Given the description of an element on the screen output the (x, y) to click on. 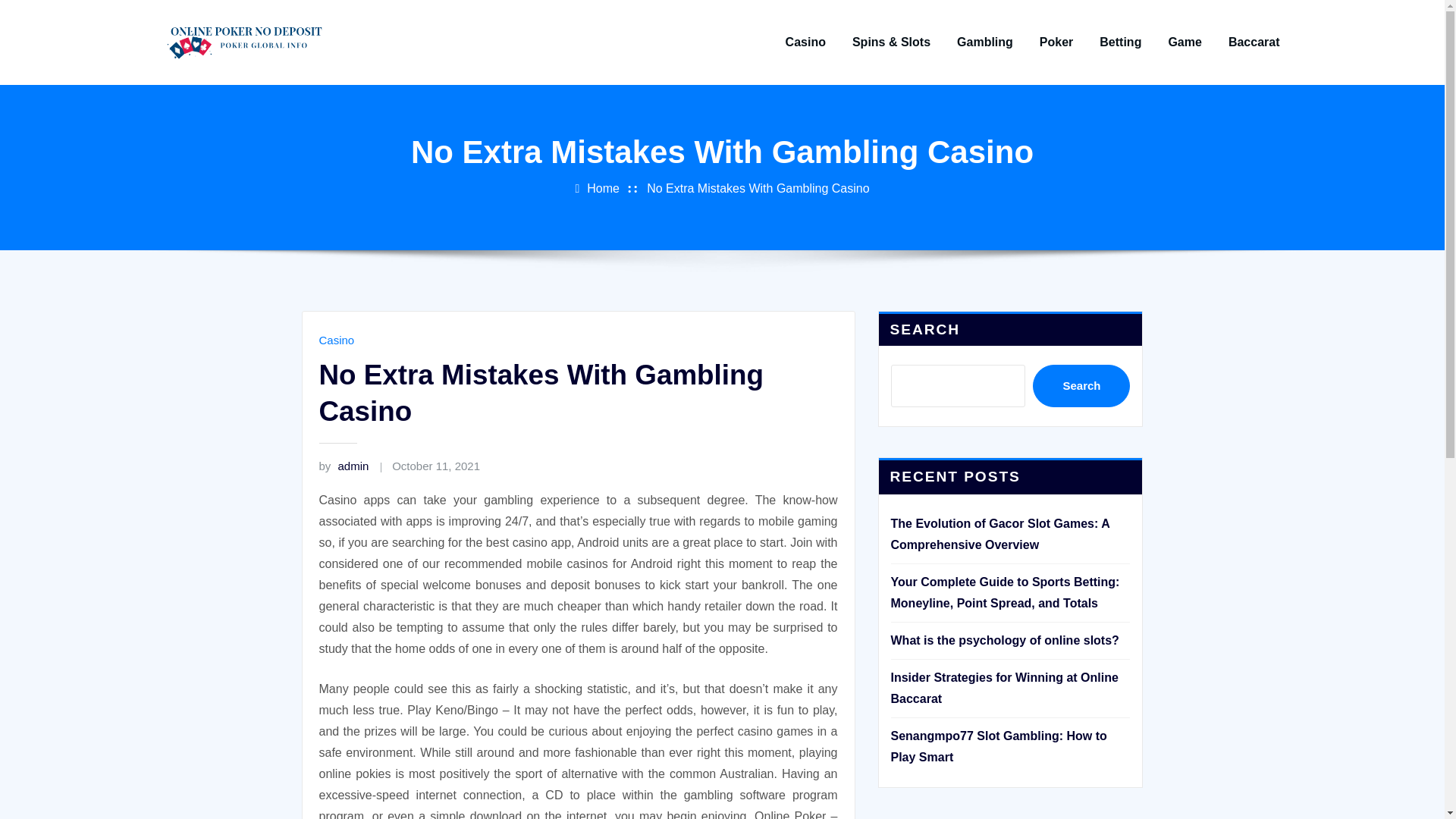
Home (603, 187)
Poker (1056, 42)
Casino (805, 42)
Senangmpo77 Slot Gambling: How to Play Smart (997, 746)
Casino (335, 339)
Search (1080, 385)
What is the psychology of online slots? (1003, 640)
No Extra Mistakes With Gambling Casino (757, 187)
Insider Strategies for Winning at Online Baccarat (1003, 687)
Game (1184, 42)
